Given the description of an element on the screen output the (x, y) to click on. 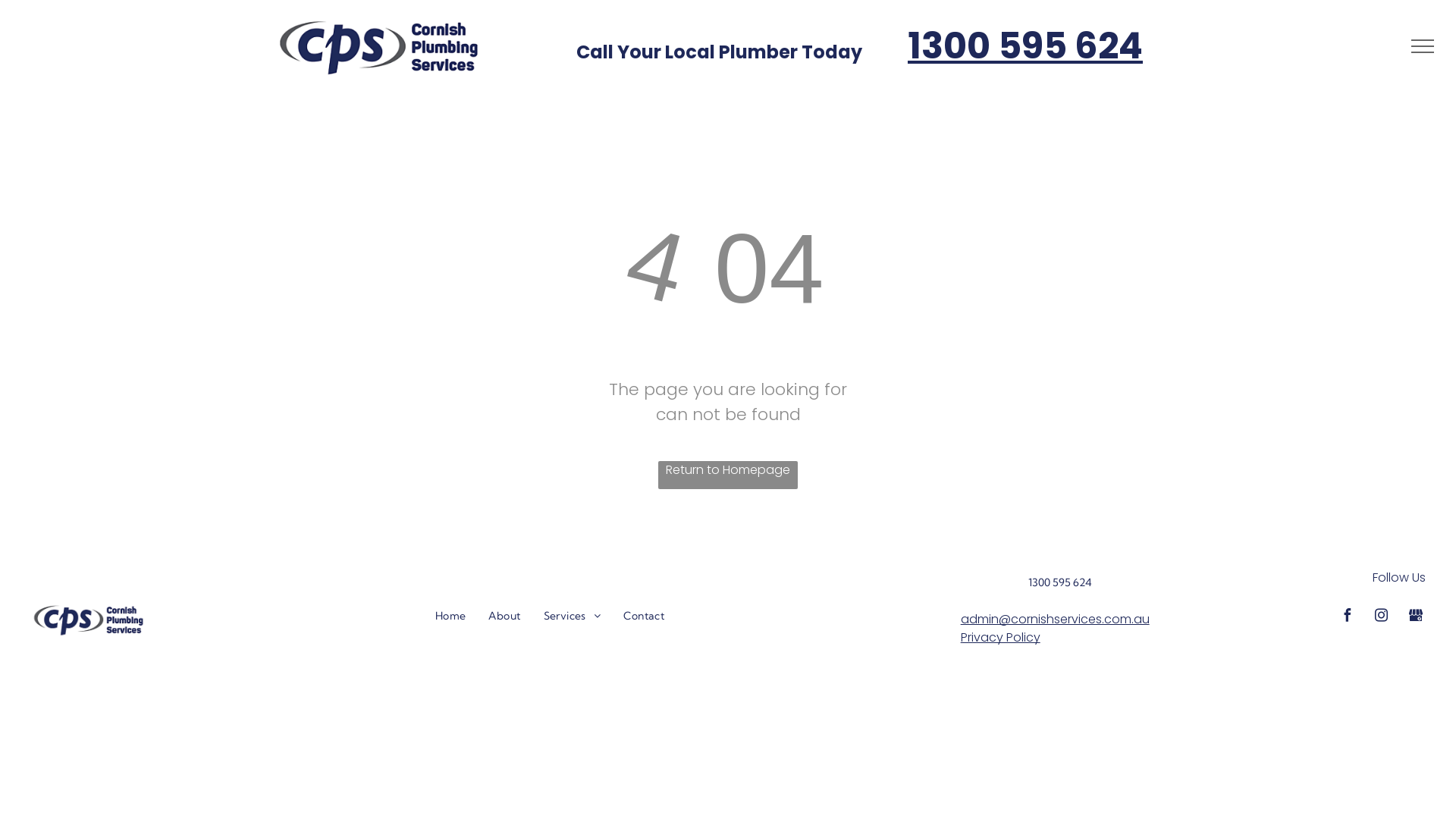
Home Element type: text (450, 615)
Return to Homepage Element type: text (727, 475)
About Element type: text (503, 615)
1300 595 624 Element type: text (1024, 45)
1300 595 624 Element type: text (1059, 581)
Privacy Policy Element type: text (1000, 637)
Services Element type: text (572, 615)
admin@cornishservices.com.au Element type: text (1054, 618)
Contact Element type: text (643, 615)
